Given the description of an element on the screen output the (x, y) to click on. 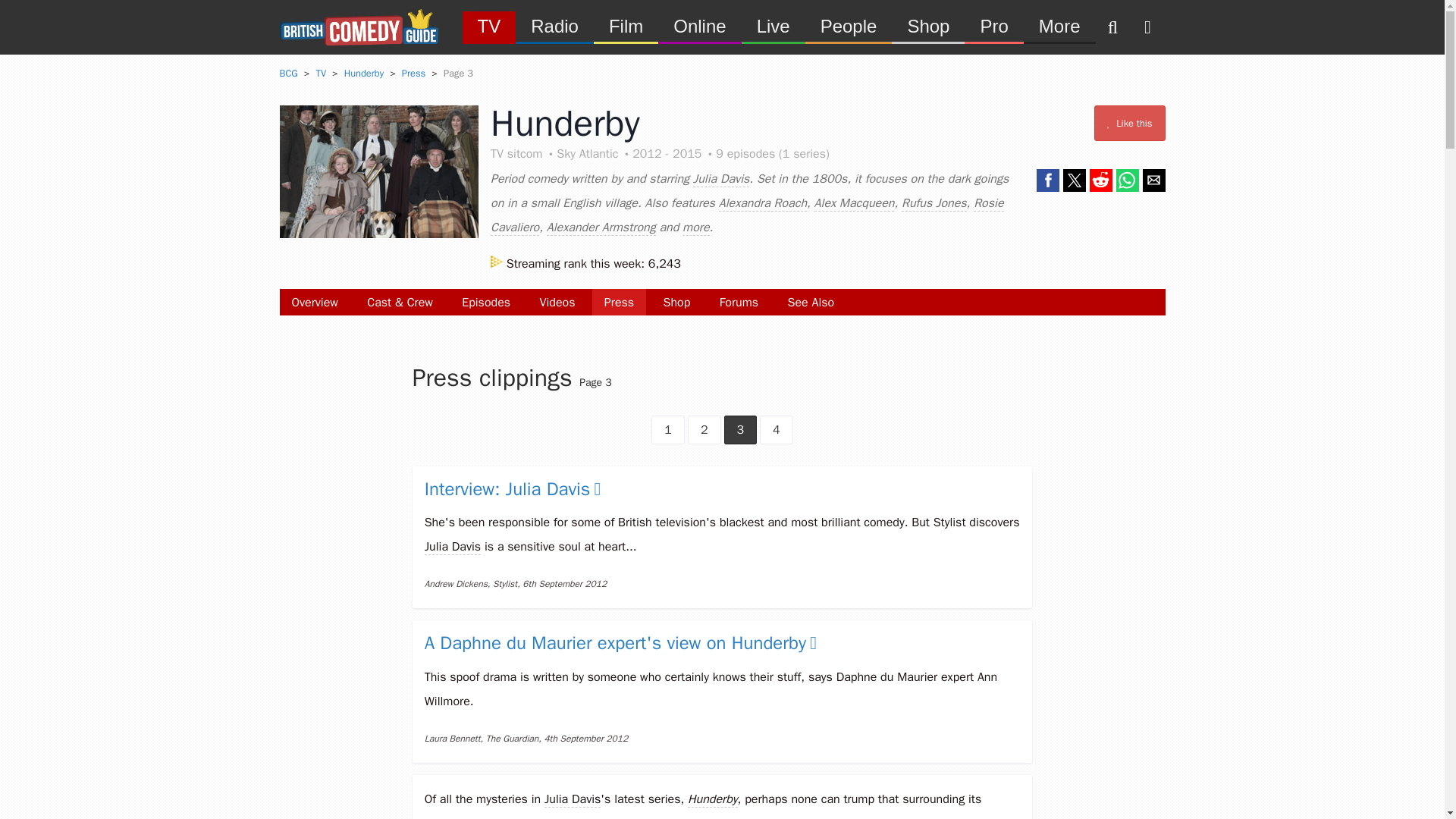
Press (413, 73)
TV (489, 25)
Forums (738, 302)
Rufus Jones (933, 203)
Rosie Cavaliero (746, 215)
People (848, 25)
Julia Davis profile (571, 799)
JustWatch most-streamed ranking (585, 263)
more (695, 227)
BCG (288, 73)
Shop (676, 302)
Film (626, 25)
Shop (927, 25)
Alexandra Roach (762, 203)
More (1059, 25)
